Given the description of an element on the screen output the (x, y) to click on. 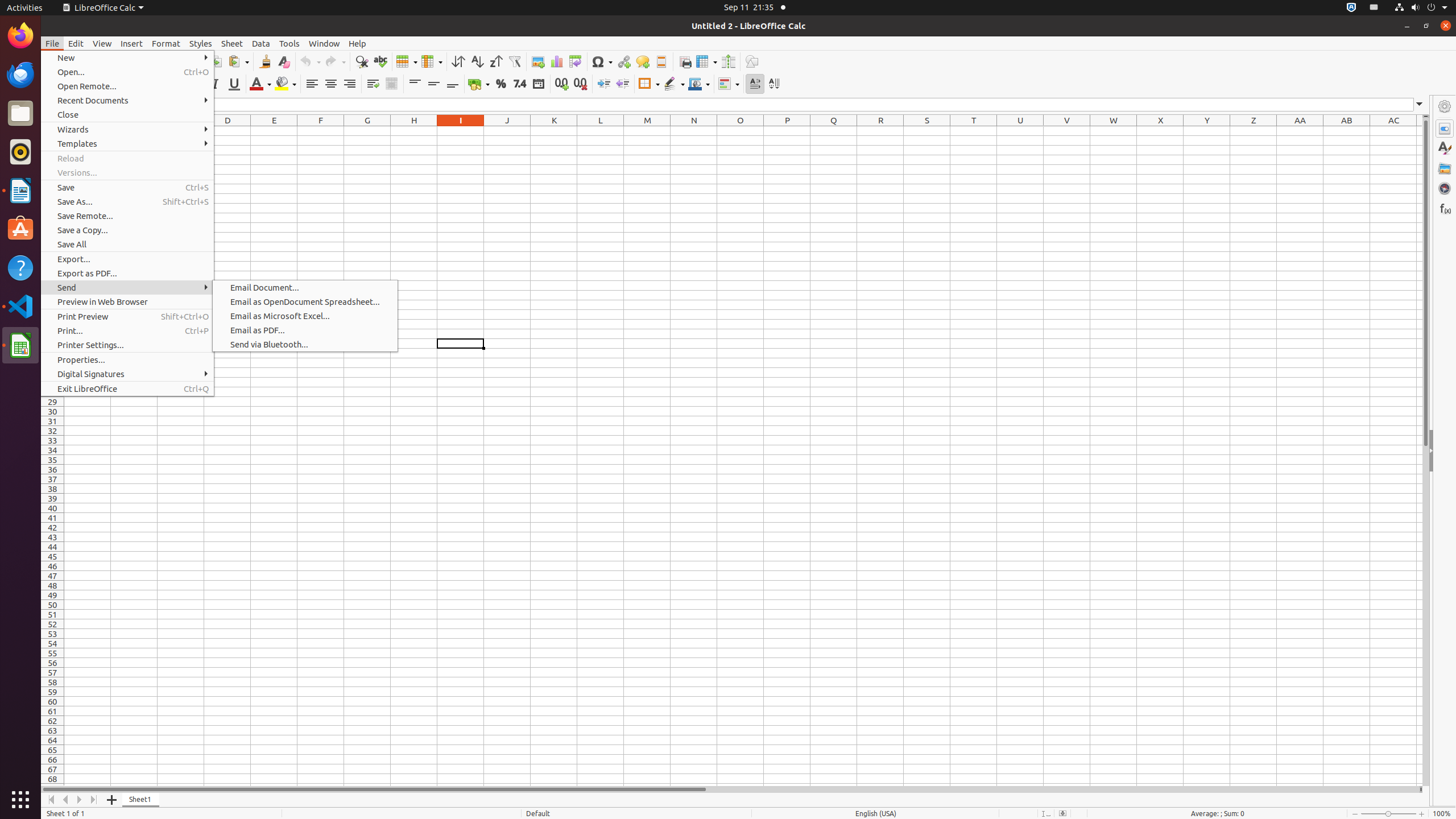
Gallery Element type: radio-button (1444, 168)
Save Remote... Element type: menu-item (126, 215)
Clear Element type: push-button (283, 61)
Save As... Element type: menu-item (126, 201)
Split Window Element type: push-button (727, 61)
